Given the description of an element on the screen output the (x, y) to click on. 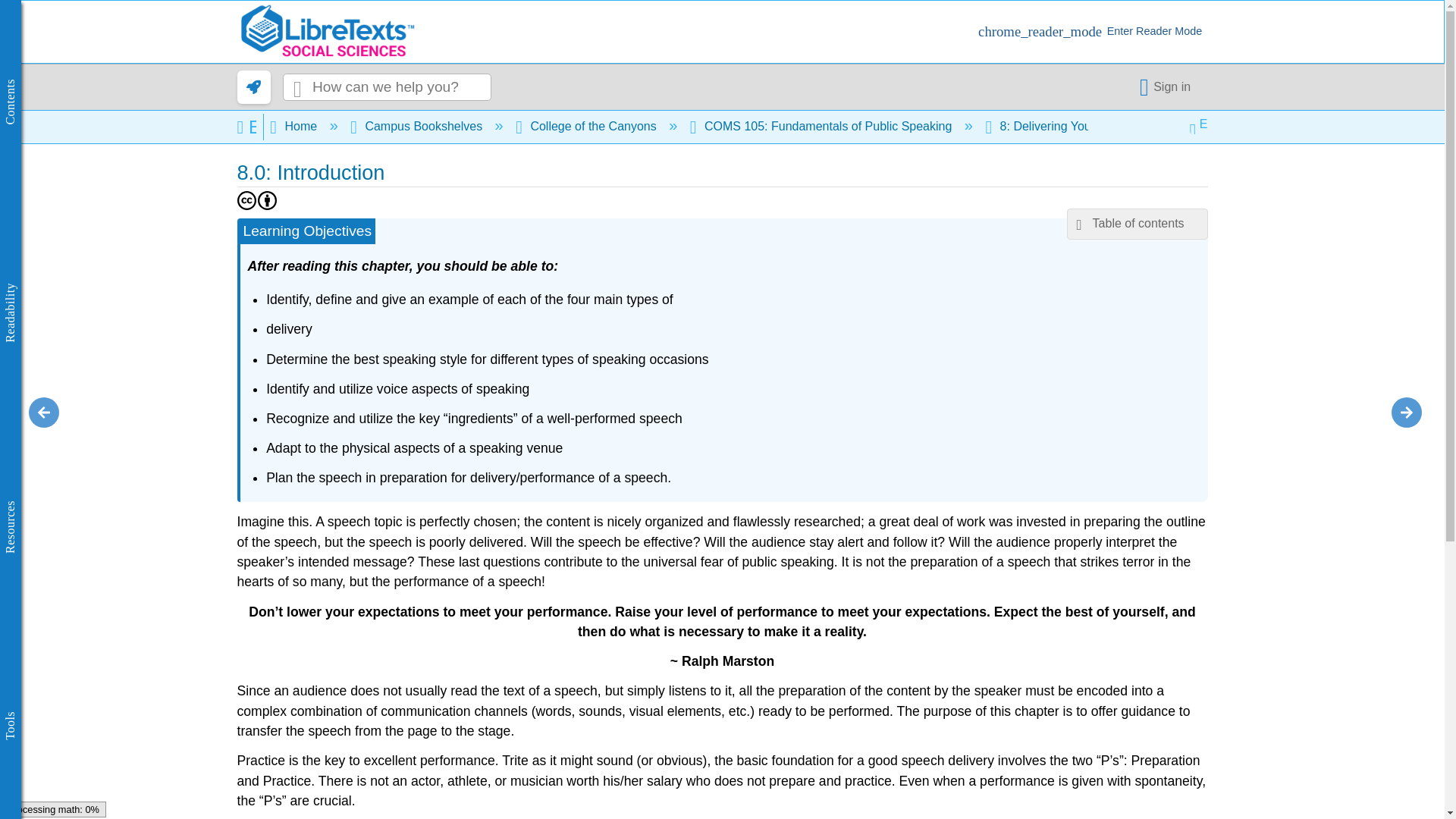
CC (246, 199)
Single Sign-On (1167, 86)
BY (266, 199)
